Given the description of an element on the screen output the (x, y) to click on. 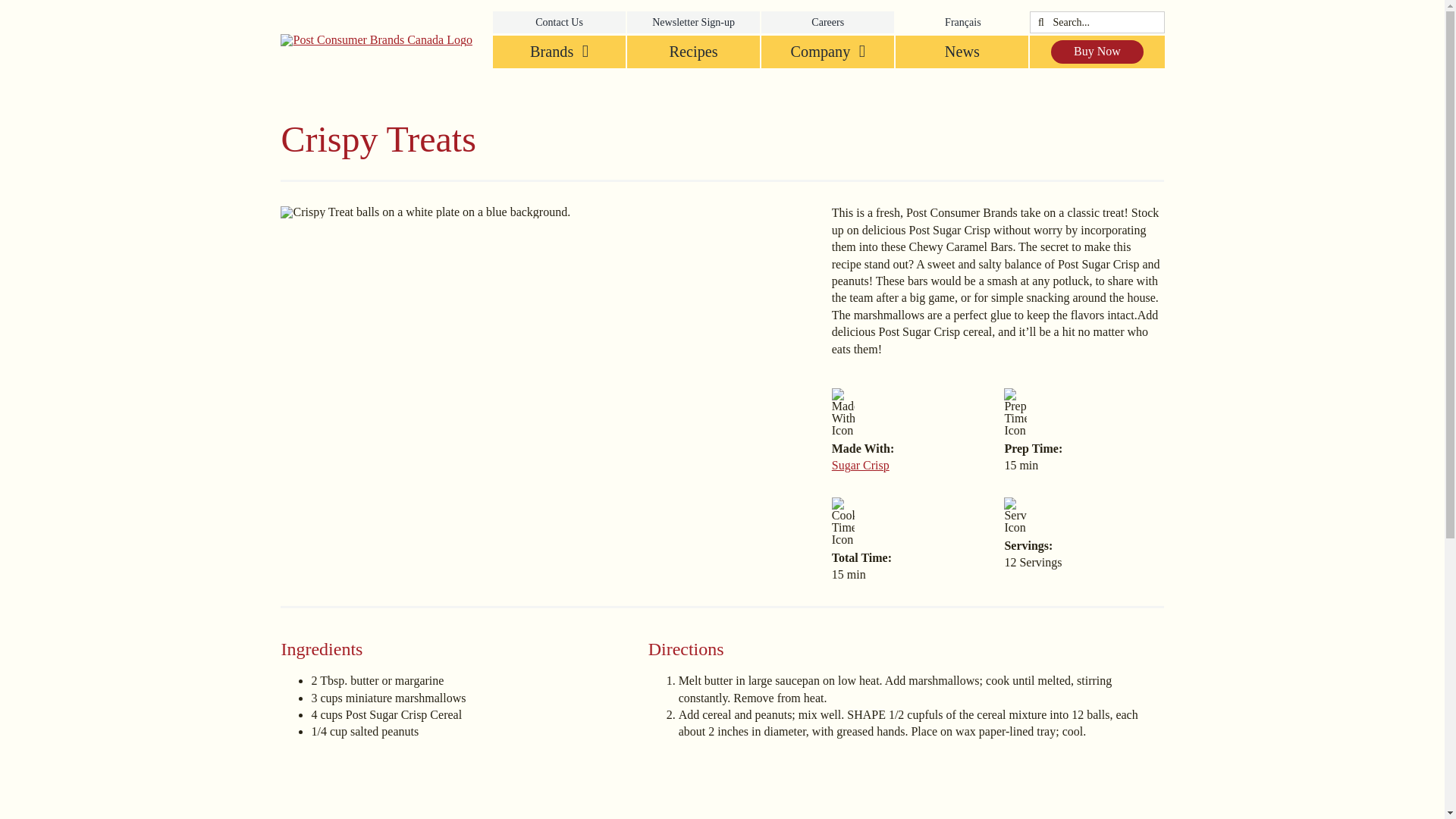
Contact Us (559, 22)
Recipes (693, 51)
Brands (559, 51)
Newsletter Sign-up (693, 22)
Company (827, 51)
Careers (827, 22)
